Given the description of an element on the screen output the (x, y) to click on. 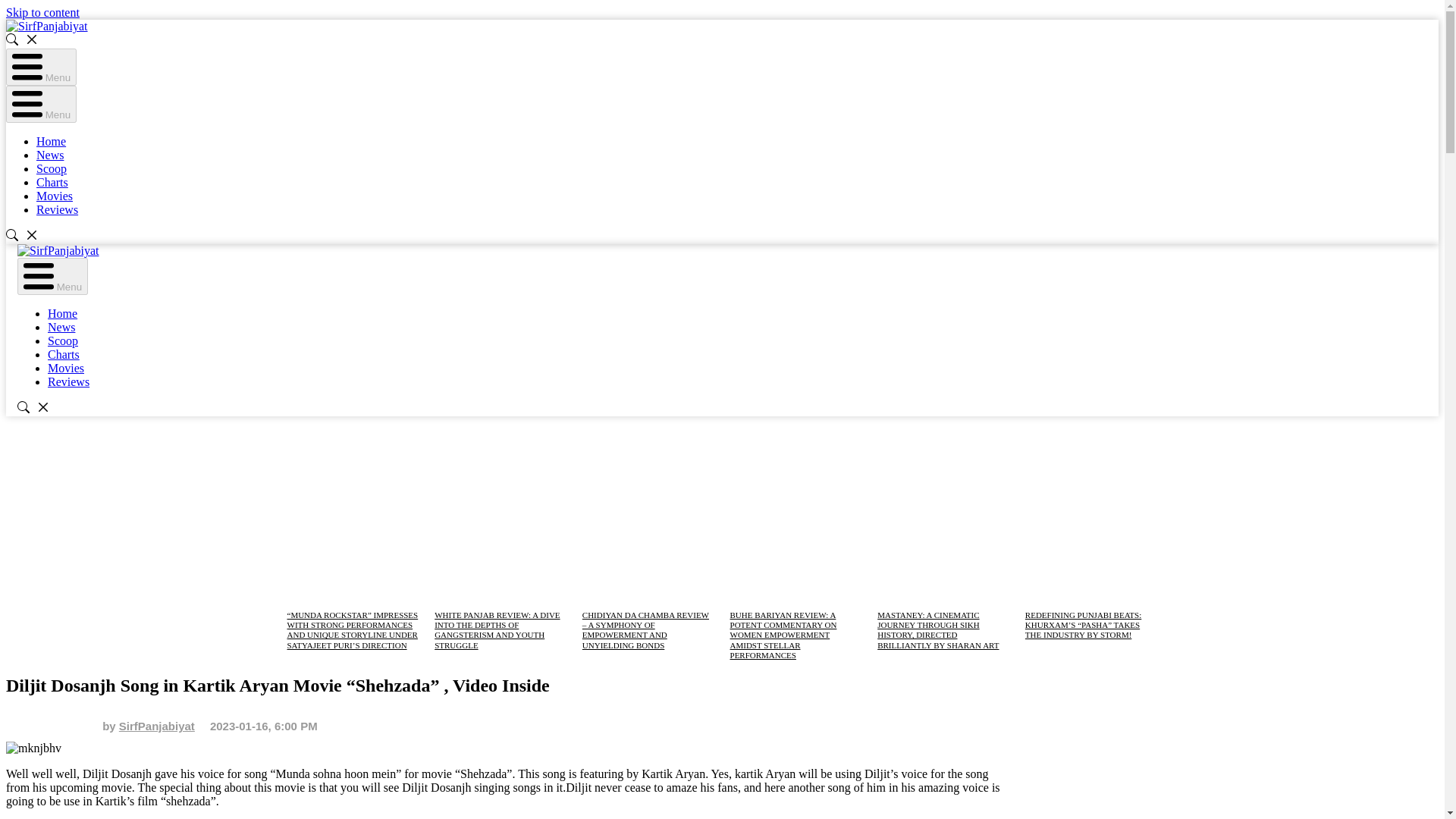
Skip to content (42, 11)
Reviews (68, 381)
Menu (41, 103)
Home (62, 313)
Home (50, 141)
Movies (54, 195)
Menu (52, 275)
Movies (66, 367)
News (61, 327)
